Given the description of an element on the screen output the (x, y) to click on. 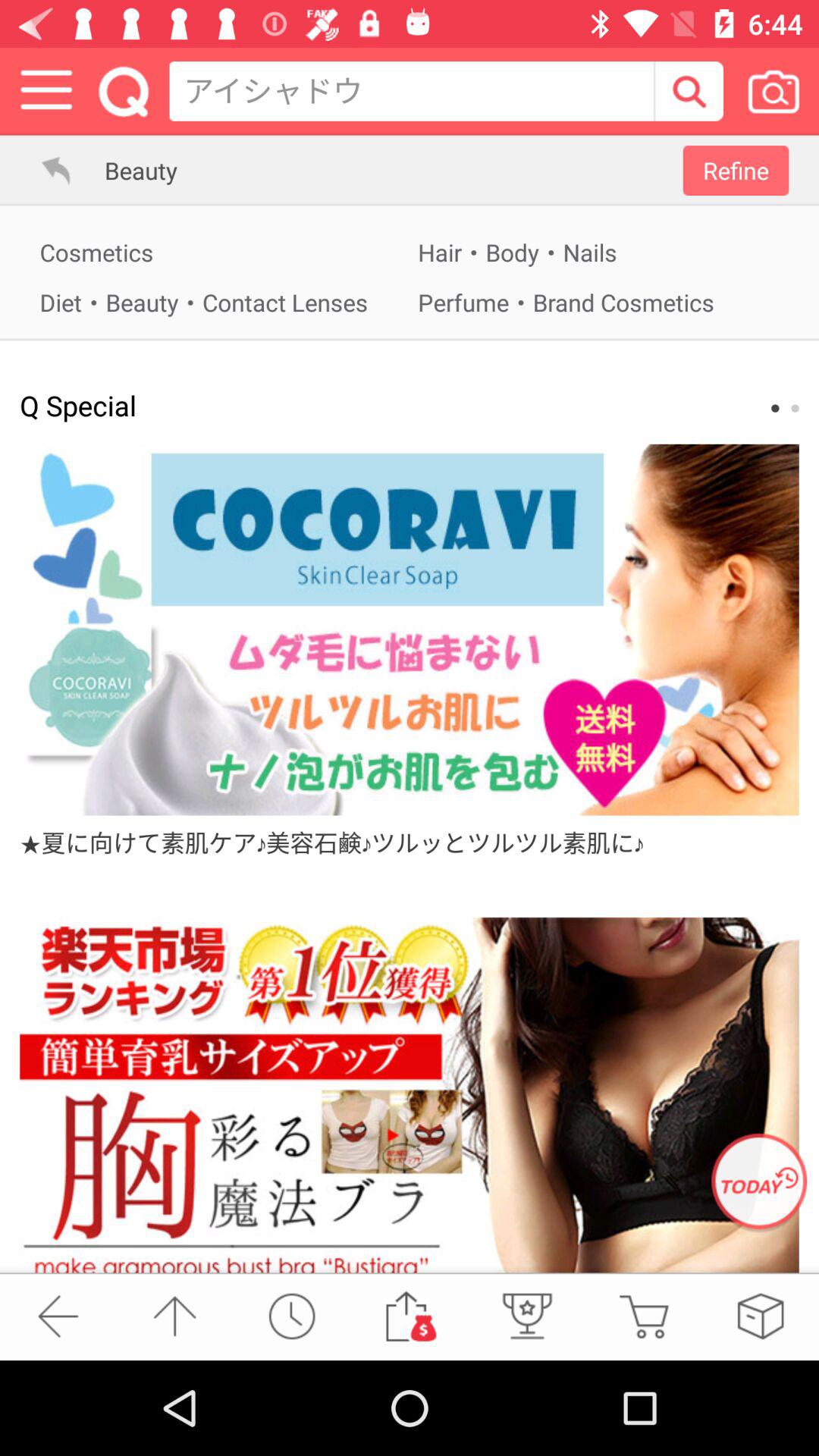
search bar (688, 91)
